Given the description of an element on the screen output the (x, y) to click on. 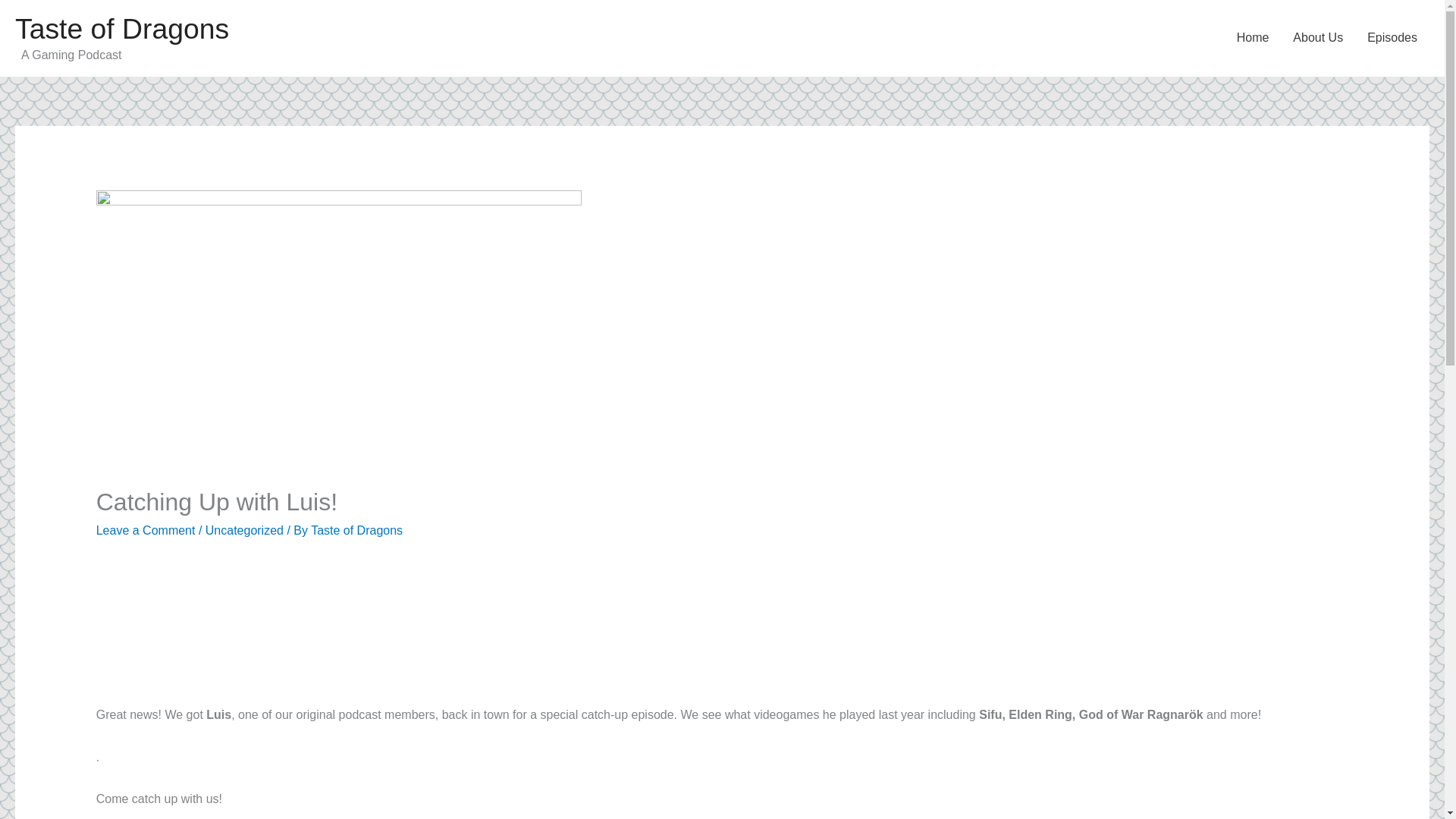
About Us (1318, 37)
Home (1252, 37)
Taste of Dragons (121, 29)
Leave a Comment (145, 530)
Taste of Dragons (357, 530)
Episodes (1392, 37)
View all posts by Taste of Dragons (357, 530)
Uncategorized (244, 530)
